Given the description of an element on the screen output the (x, y) to click on. 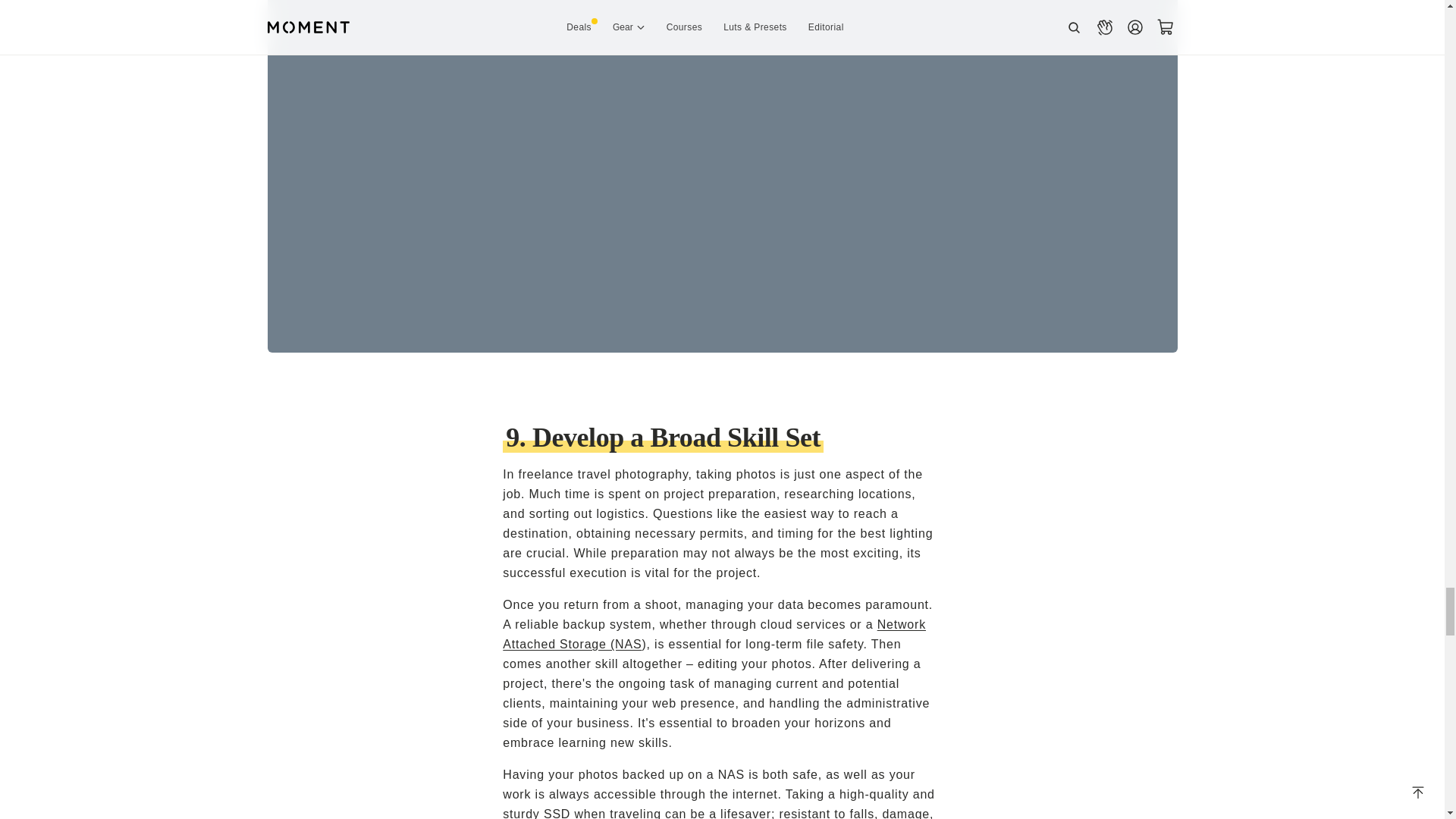
sturdy SSD (536, 813)
